Given the description of an element on the screen output the (x, y) to click on. 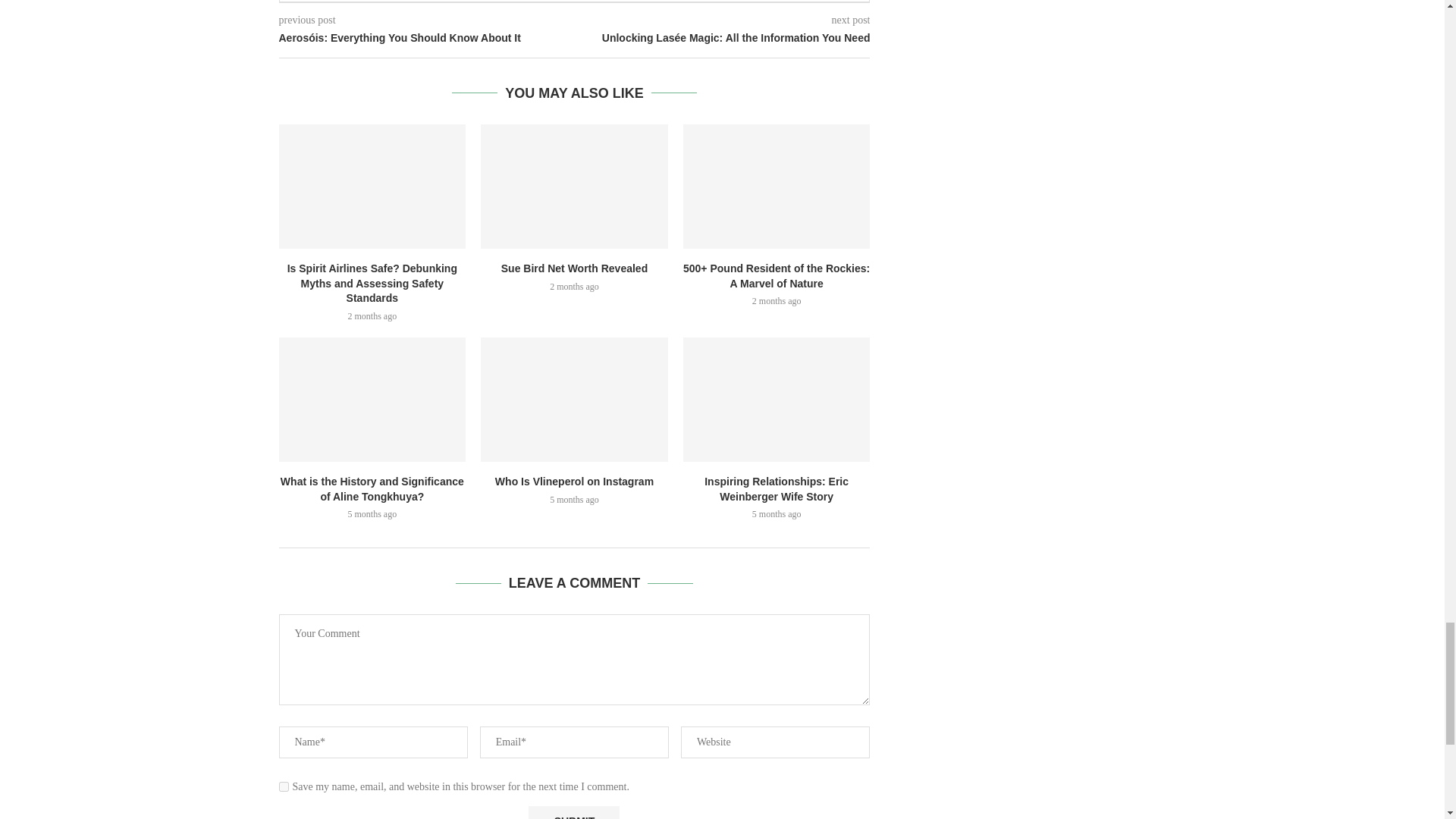
yes (283, 786)
Submit (574, 812)
